Given the description of an element on the screen output the (x, y) to click on. 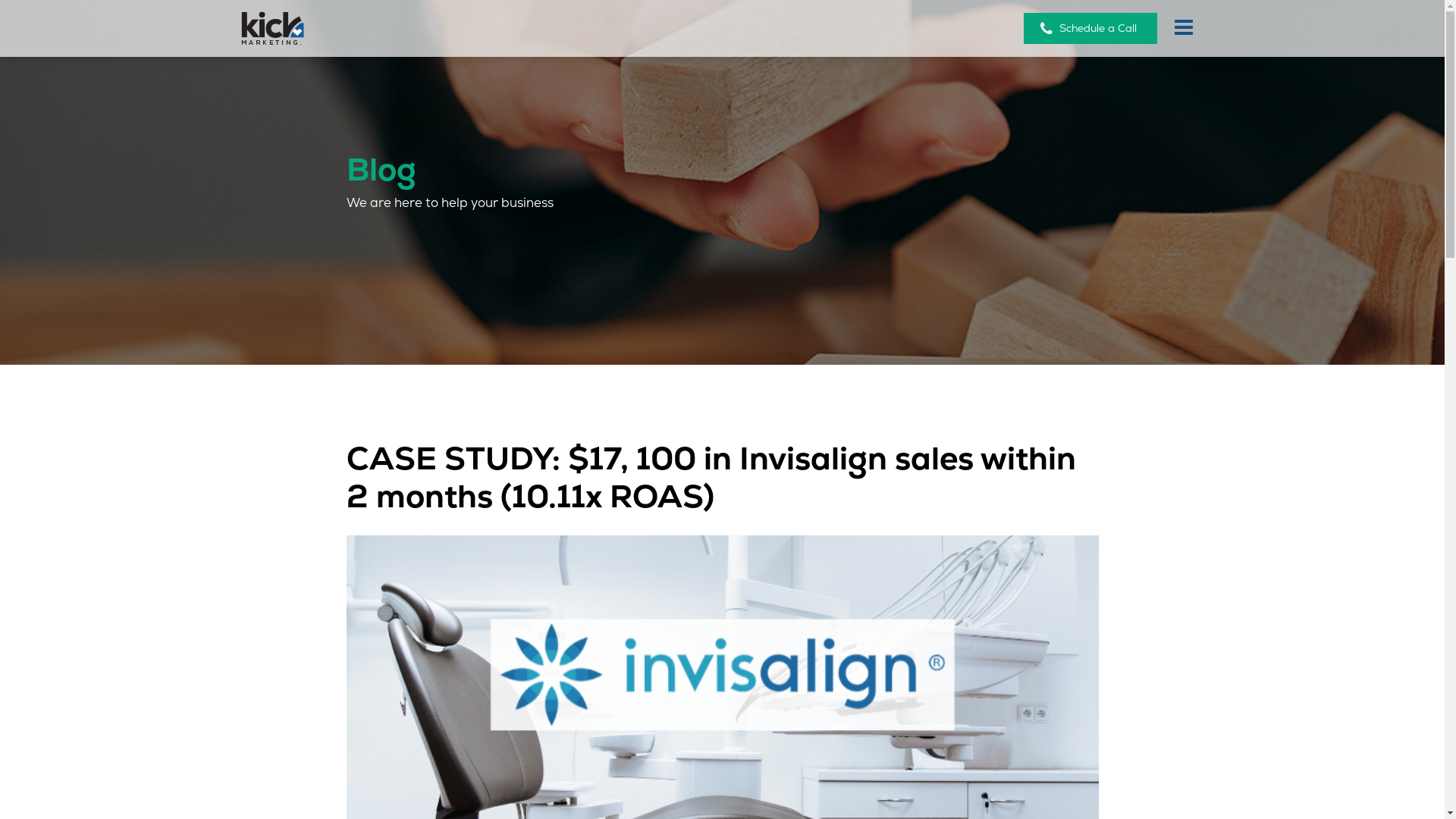
Schedule a Call Element type: text (1090, 27)
Skip to content Element type: text (0, 0)
